Given the description of an element on the screen output the (x, y) to click on. 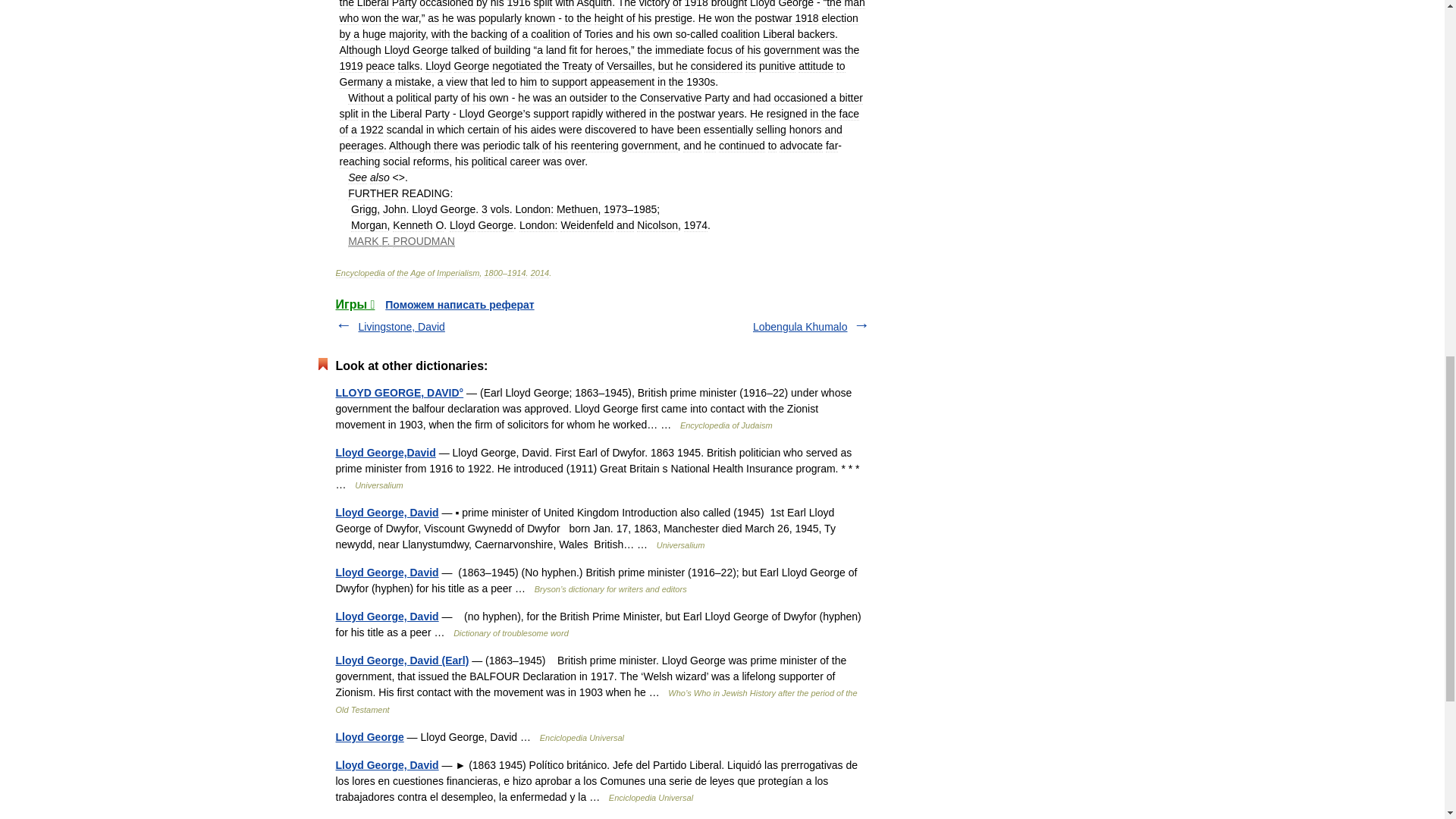
Lloyd George, David (386, 765)
Lloyd George, David (386, 512)
Livingstone, David (401, 326)
Livingstone, David (401, 326)
Lobengula Khumalo (799, 326)
Lloyd George,David (384, 452)
Lloyd George (368, 736)
Lloyd George, David (386, 572)
Lobengula Khumalo (799, 326)
Lloyd George, David (386, 616)
